Given the description of an element on the screen output the (x, y) to click on. 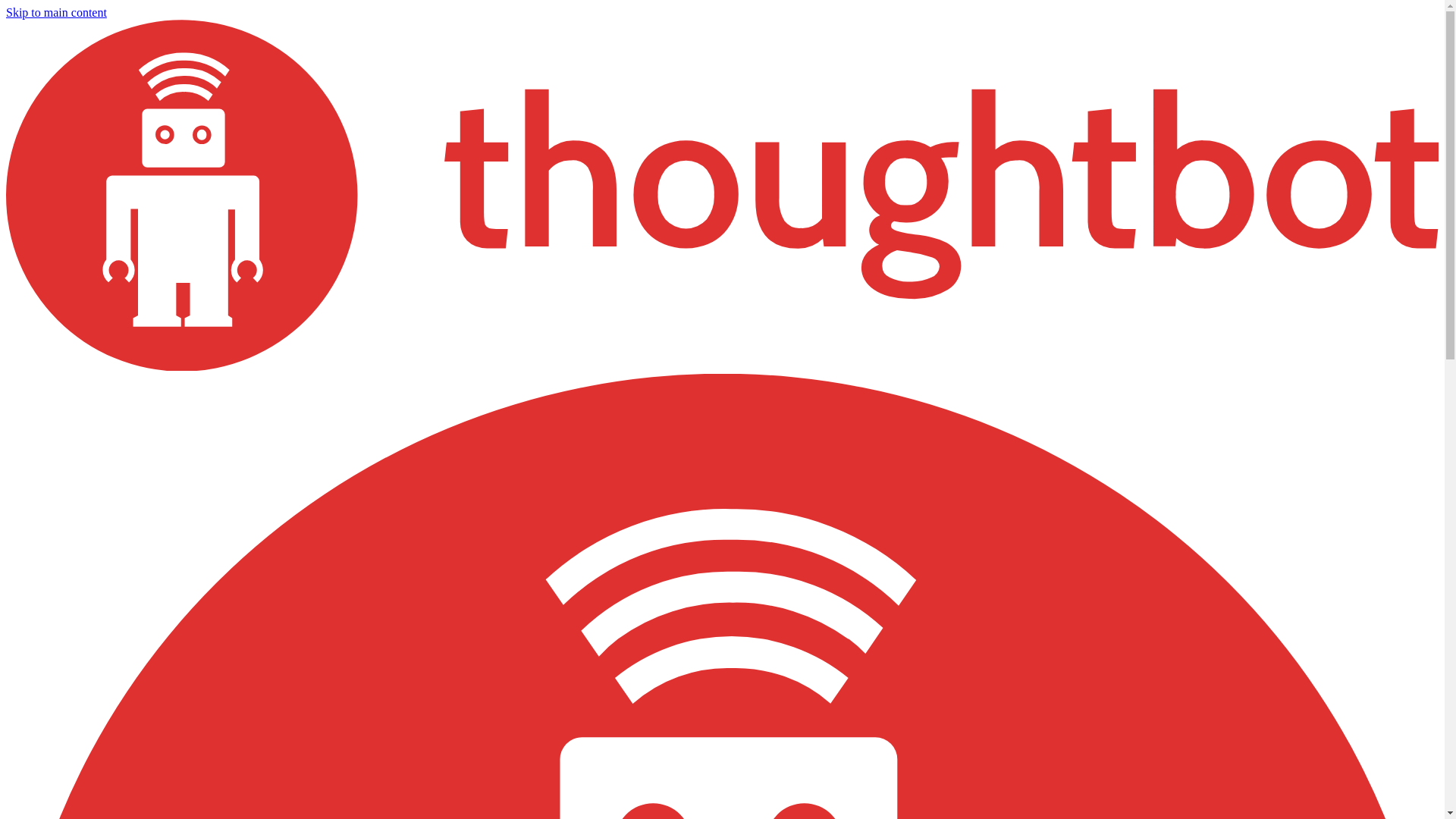
Skip to main content (55, 11)
